Given the description of an element on the screen output the (x, y) to click on. 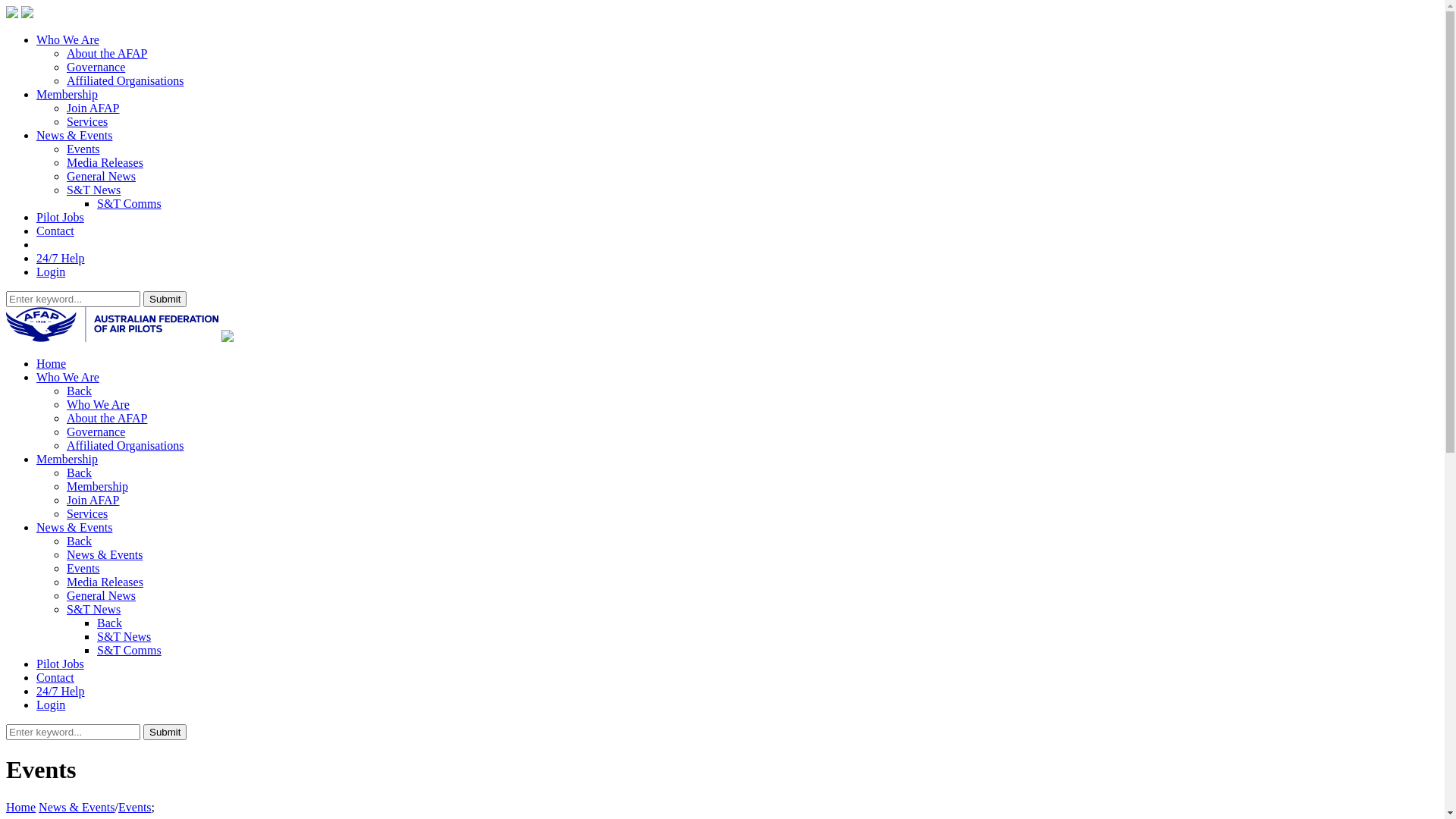
Home Element type: text (50, 363)
Who We Are Element type: text (67, 376)
S&T News Element type: text (93, 189)
S&T News Element type: text (93, 608)
Services Element type: text (86, 513)
General News Element type: text (100, 595)
Membership Element type: text (66, 458)
Contact Element type: text (55, 230)
Governance Element type: text (95, 66)
Membership Element type: text (66, 93)
General News Element type: text (100, 175)
Media Releases Element type: text (104, 581)
Join AFAP Element type: text (92, 499)
Membership Element type: text (97, 486)
About the AFAP Element type: text (106, 417)
24/7 Help Element type: text (60, 257)
Services Element type: text (86, 121)
S&T Comms Element type: text (129, 203)
Contact Element type: text (55, 677)
Pilot Jobs Element type: text (60, 663)
24/7 Help Element type: text (60, 690)
Back Element type: text (109, 622)
About the AFAP Element type: text (106, 53)
Media Releases Element type: text (104, 162)
S&T News Element type: text (123, 636)
Events Element type: text (83, 567)
Join AFAP Element type: text (92, 107)
News & Events Element type: text (74, 526)
Back Element type: text (78, 472)
Login Element type: text (50, 271)
S&T Comms Element type: text (129, 649)
Who We Are Element type: text (97, 404)
Back Element type: text (78, 390)
Governance Element type: text (95, 431)
Back Element type: text (78, 540)
News & Events Element type: text (76, 806)
Pilot Jobs Element type: text (60, 216)
Who We Are Element type: text (67, 39)
News & Events Element type: text (104, 554)
Events Element type: text (134, 806)
Affiliated Organisations Element type: text (125, 445)
Affiliated Organisations Element type: text (125, 80)
Events Element type: text (83, 148)
Home Element type: text (20, 806)
News & Events Element type: text (74, 134)
Login Element type: text (50, 704)
